Given the description of an element on the screen output the (x, y) to click on. 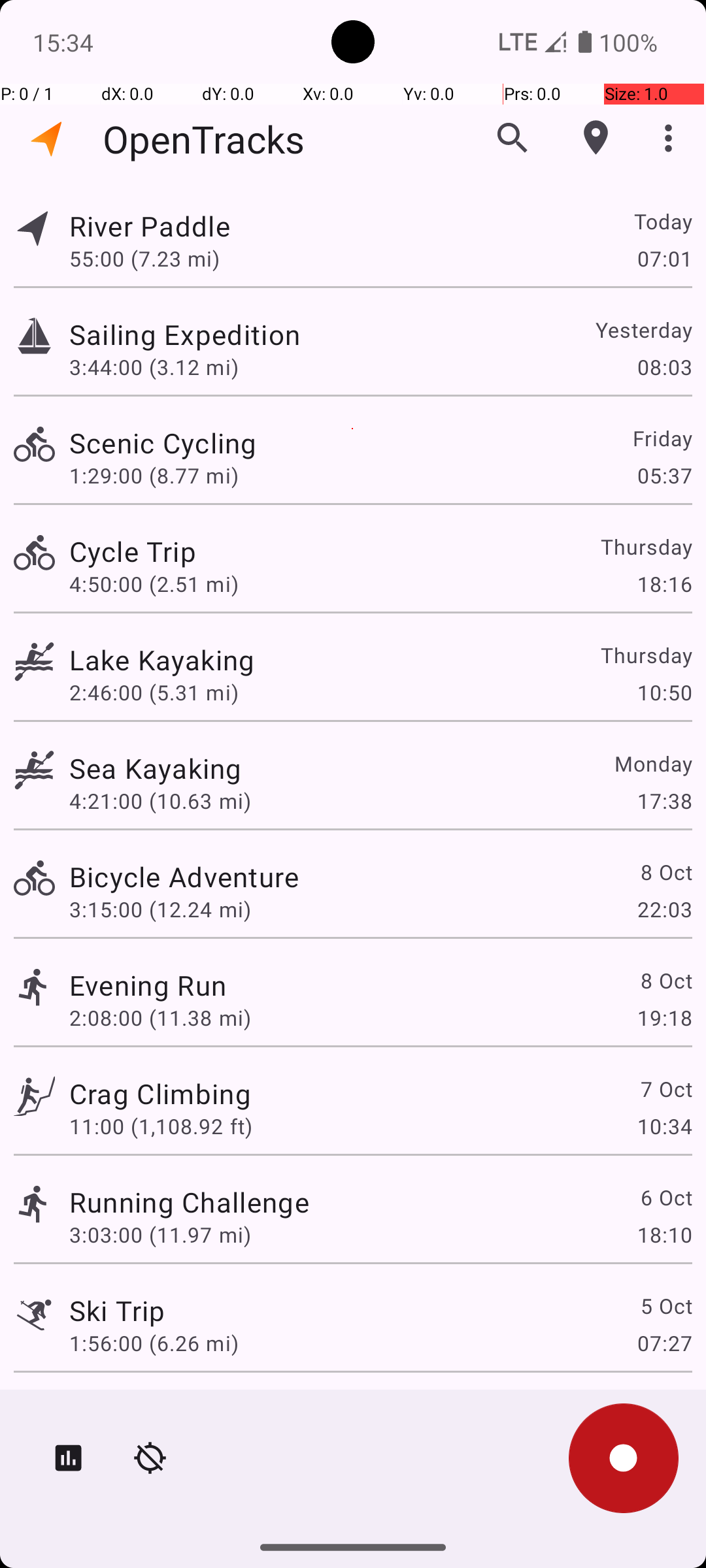
River Paddle Element type: android.widget.TextView (149, 225)
55:00 (7.23 mi) Element type: android.widget.TextView (144, 258)
07:01 Element type: android.widget.TextView (664, 258)
Sailing Expedition Element type: android.widget.TextView (184, 333)
3:44:00 (3.12 mi) Element type: android.widget.TextView (153, 366)
08:03 Element type: android.widget.TextView (664, 366)
Scenic Cycling Element type: android.widget.TextView (162, 442)
1:29:00 (8.77 mi) Element type: android.widget.TextView (153, 475)
05:37 Element type: android.widget.TextView (664, 475)
Cycle Trip Element type: android.widget.TextView (132, 550)
4:50:00 (2.51 mi) Element type: android.widget.TextView (153, 583)
18:16 Element type: android.widget.TextView (664, 583)
Lake Kayaking Element type: android.widget.TextView (161, 659)
2:46:00 (5.31 mi) Element type: android.widget.TextView (153, 692)
10:50 Element type: android.widget.TextView (664, 692)
Sea Kayaking Element type: android.widget.TextView (155, 767)
4:21:00 (10.63 mi) Element type: android.widget.TextView (159, 800)
17:38 Element type: android.widget.TextView (664, 800)
Bicycle Adventure Element type: android.widget.TextView (183, 876)
3:15:00 (12.24 mi) Element type: android.widget.TextView (159, 909)
22:03 Element type: android.widget.TextView (664, 909)
Evening Run Element type: android.widget.TextView (147, 984)
2:08:00 (11.38 mi) Element type: android.widget.TextView (159, 1017)
19:18 Element type: android.widget.TextView (664, 1017)
Crag Climbing Element type: android.widget.TextView (159, 1092)
11:00 (1,108.92 ft) Element type: android.widget.TextView (160, 1125)
10:34 Element type: android.widget.TextView (664, 1125)
Running Challenge Element type: android.widget.TextView (188, 1201)
6 Oct Element type: android.widget.TextView (665, 1197)
3:03:00 (11.97 mi) Element type: android.widget.TextView (159, 1234)
18:10 Element type: android.widget.TextView (664, 1234)
Ski Trip Element type: android.widget.TextView (116, 1309)
5 Oct Element type: android.widget.TextView (665, 1305)
1:56:00 (6.26 mi) Element type: android.widget.TextView (153, 1342)
07:27 Element type: android.widget.TextView (664, 1342)
Running Adventure Element type: android.widget.TextView (190, 1408)
